Given the description of an element on the screen output the (x, y) to click on. 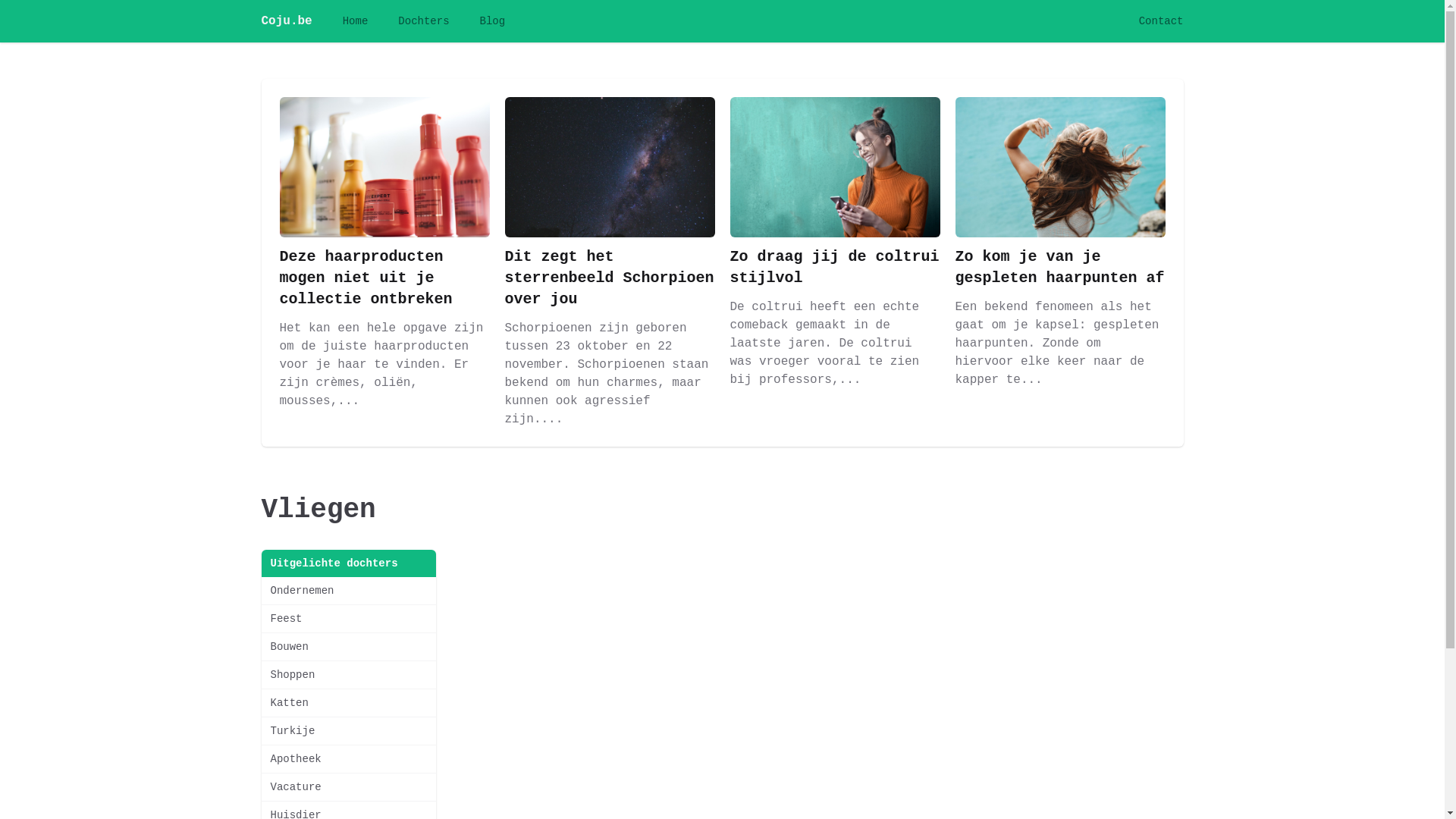
Apotheek Element type: text (347, 758)
Vacature Element type: text (347, 786)
Bouwen Element type: text (347, 646)
Katten Element type: text (347, 702)
Contact Element type: text (1161, 20)
Shoppen Element type: text (347, 674)
Dochters Element type: text (423, 20)
Ondernemen Element type: text (347, 590)
Blog Element type: text (492, 20)
Feest Element type: text (347, 618)
Coju.be Element type: text (285, 21)
Turkije Element type: text (347, 730)
Home Element type: text (355, 20)
